Given the description of an element on the screen output the (x, y) to click on. 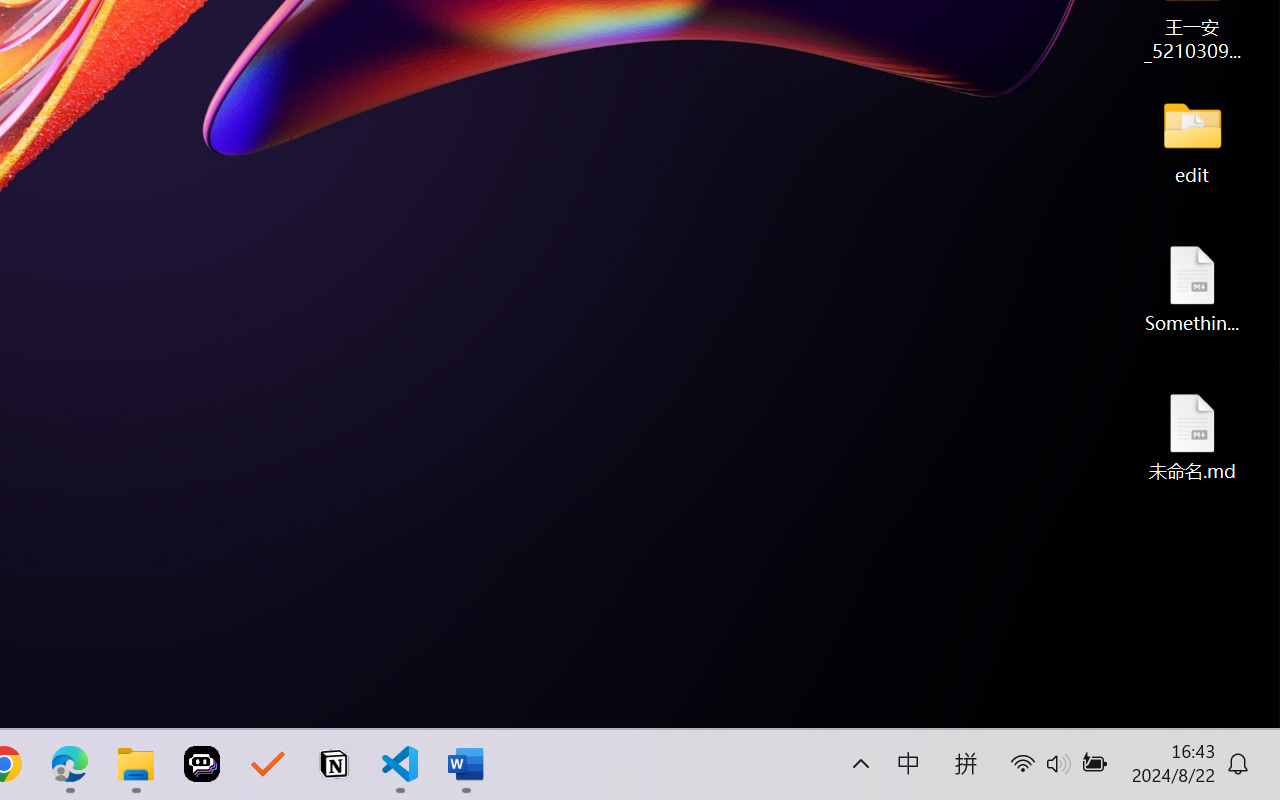
edit (1192, 140)
